Given the description of an element on the screen output the (x, y) to click on. 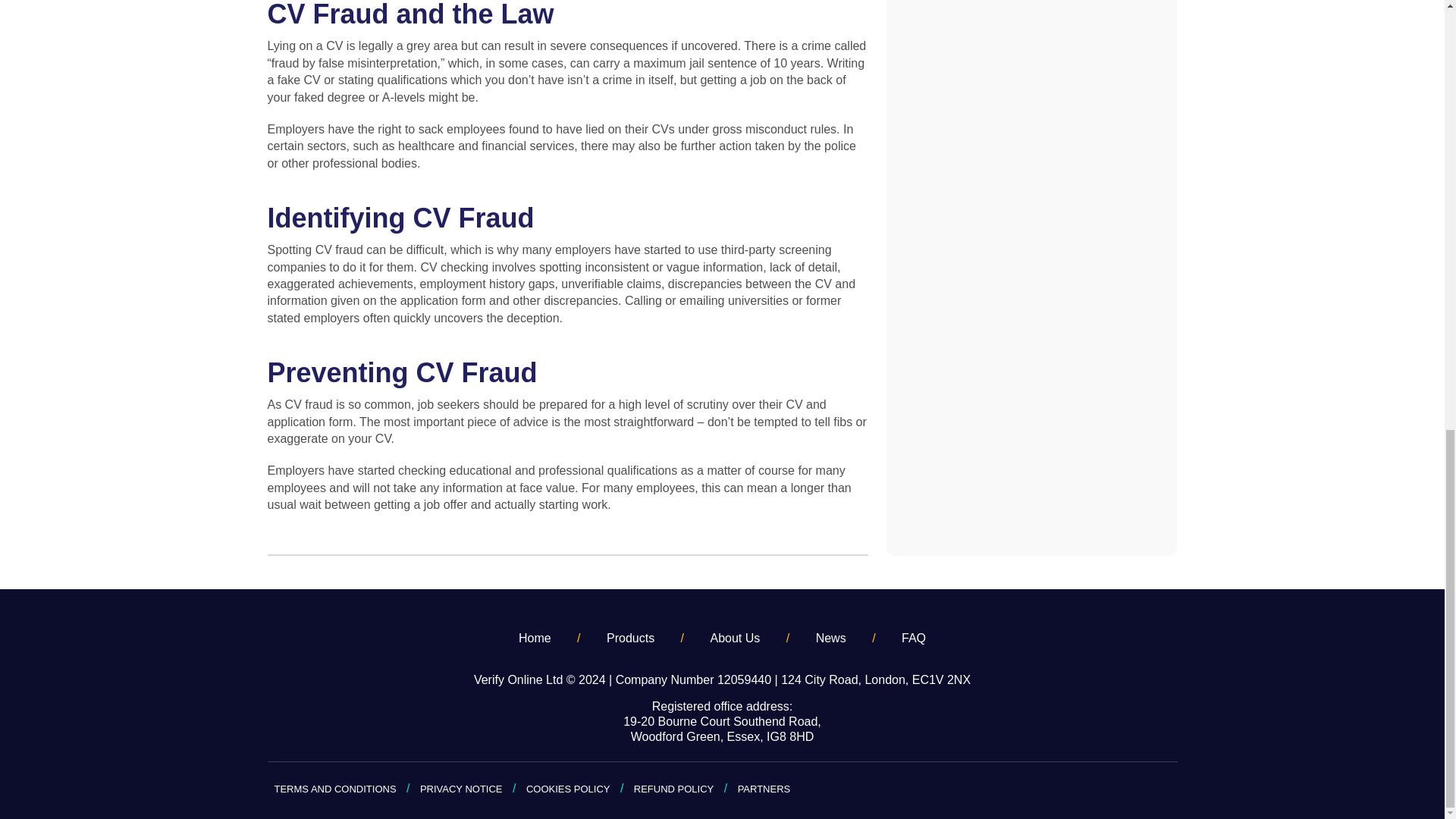
News (830, 638)
COOKIES POLICY (567, 788)
Products (630, 638)
PRIVACY NOTICE (461, 788)
PARTNERS (764, 788)
FAQ (913, 638)
Home (534, 638)
TERMS AND CONDITIONS (335, 788)
About Us (735, 638)
REFUND POLICY (673, 788)
